Given the description of an element on the screen output the (x, y) to click on. 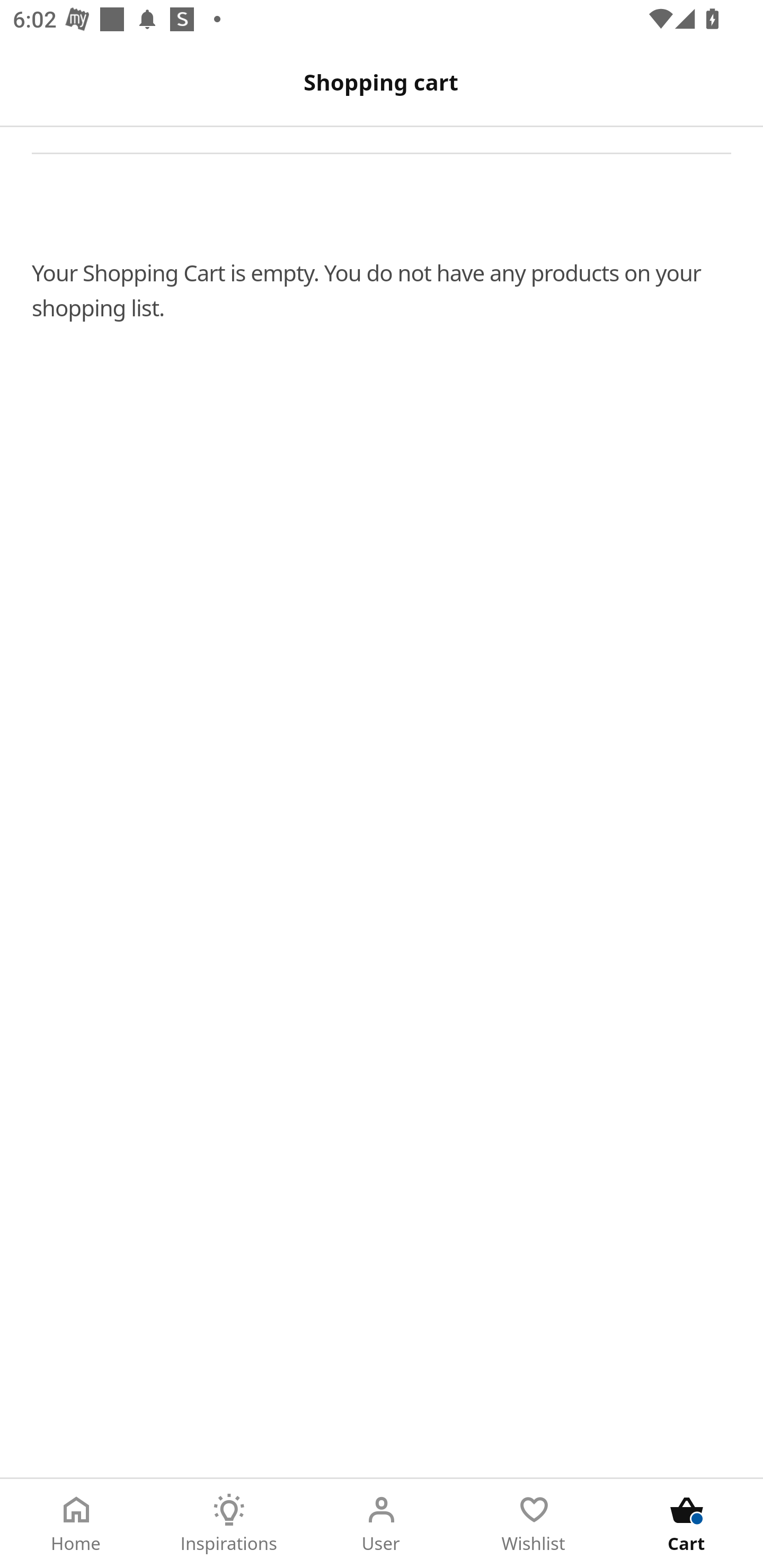
Home
Tab 1 of 5 (76, 1522)
Inspirations
Tab 2 of 5 (228, 1522)
User
Tab 3 of 5 (381, 1522)
Wishlist
Tab 4 of 5 (533, 1522)
Cart
Tab 5 of 5 (686, 1522)
